Given the description of an element on the screen output the (x, y) to click on. 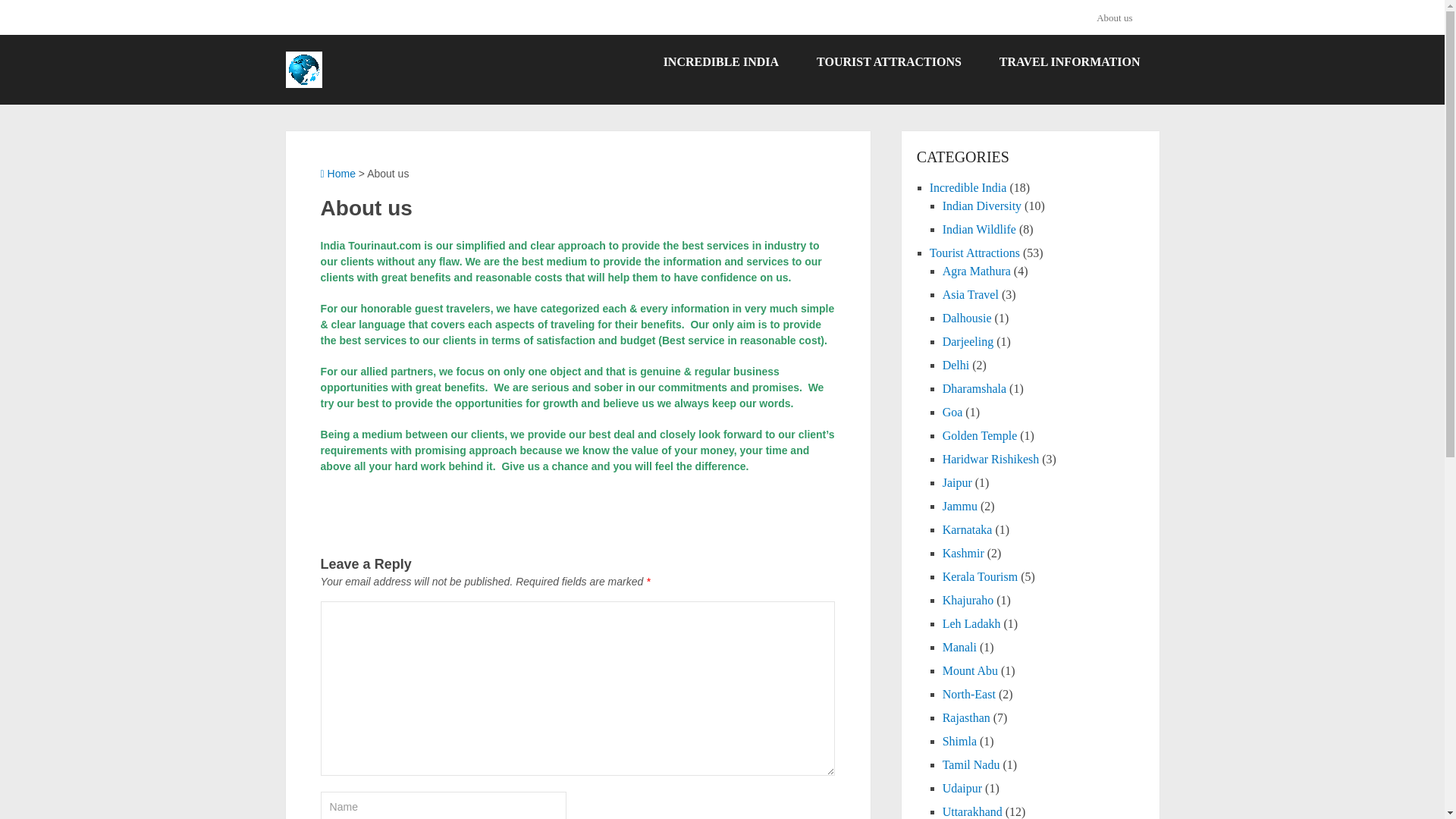
Indian Diversity (982, 205)
 Home (337, 173)
Indian Wildlife (979, 228)
Incredible India (968, 187)
About us (1119, 17)
TRAVEL INFORMATION (1068, 62)
INCREDIBLE INDIA (721, 62)
TOURIST ATTRACTIONS (888, 62)
